Given the description of an element on the screen output the (x, y) to click on. 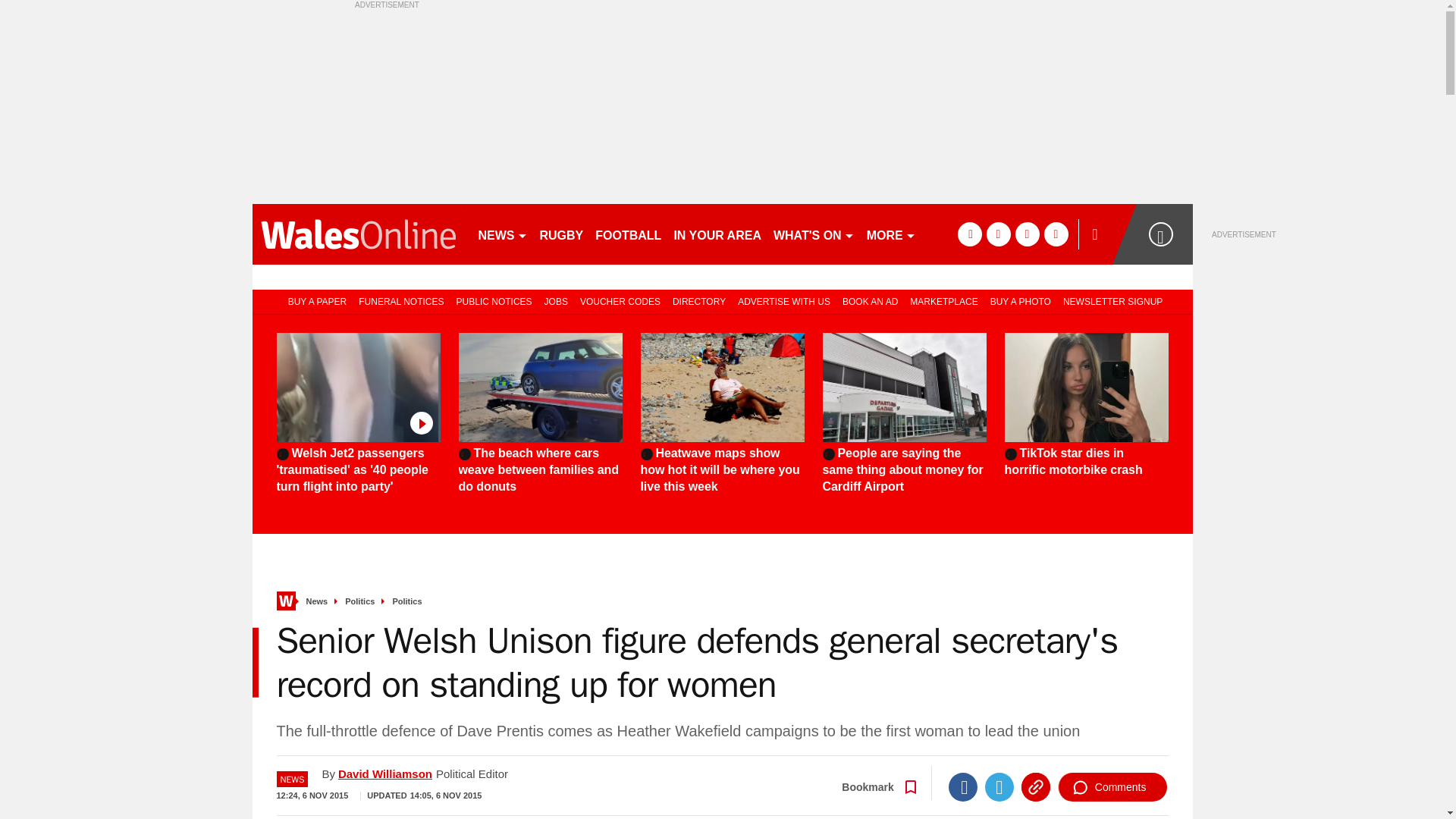
Twitter (999, 787)
walesonline (357, 233)
instagram (1055, 233)
FOOTBALL (627, 233)
pinterest (1026, 233)
RUGBY (561, 233)
facebook (968, 233)
NEWS (501, 233)
MORE (890, 233)
WHAT'S ON (813, 233)
IN YOUR AREA (716, 233)
Comments (1112, 787)
twitter (997, 233)
